Given the description of an element on the screen output the (x, y) to click on. 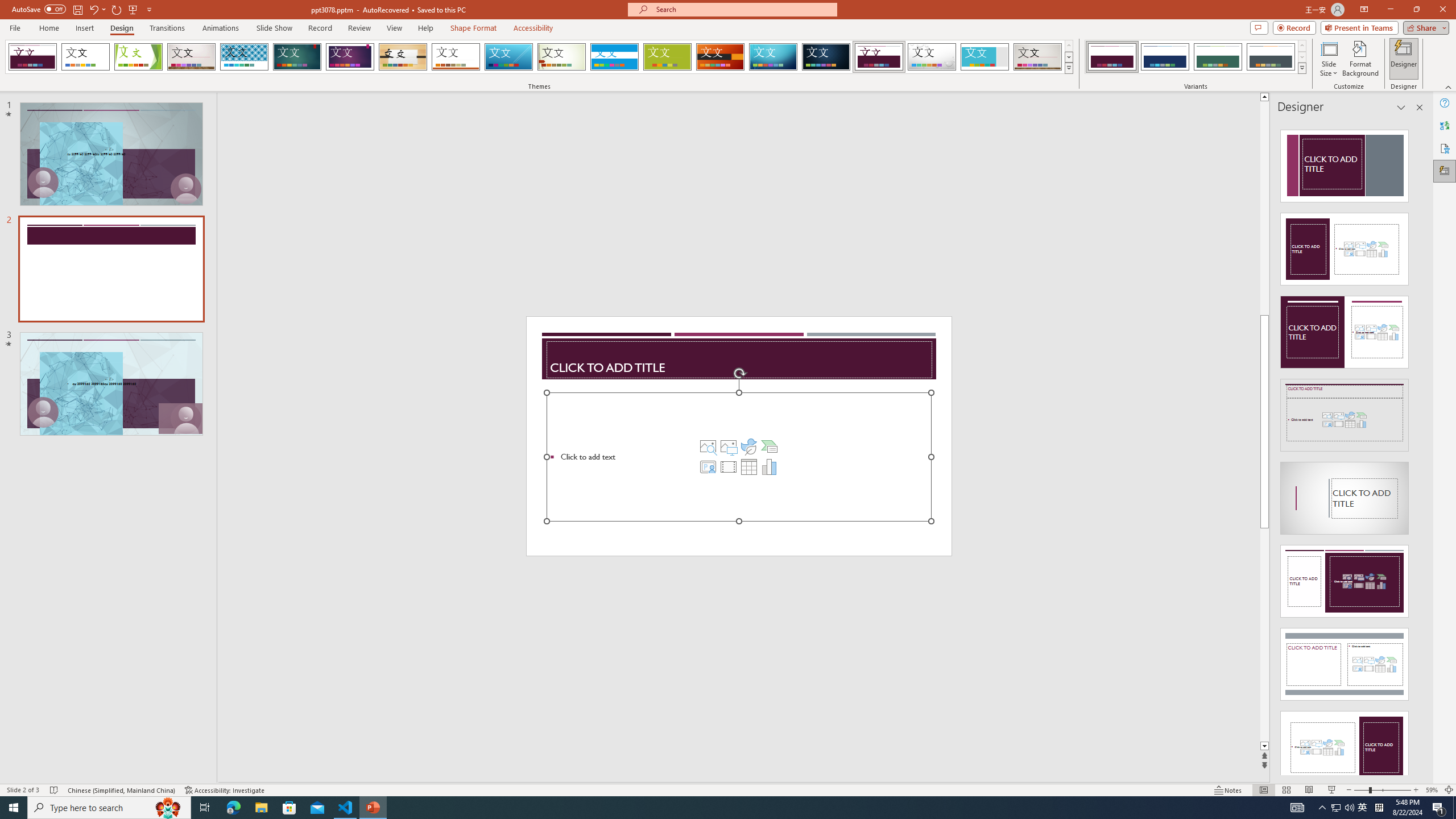
Class: NetUIScrollBar (1418, 447)
Insert Table (748, 466)
Stock Images (707, 446)
Design Idea (1344, 743)
Insert Chart (769, 466)
Ion Boardroom (350, 56)
Berlin (720, 56)
AutomationID: SlideThemesGallery (539, 56)
Dividend (879, 56)
